Given the description of an element on the screen output the (x, y) to click on. 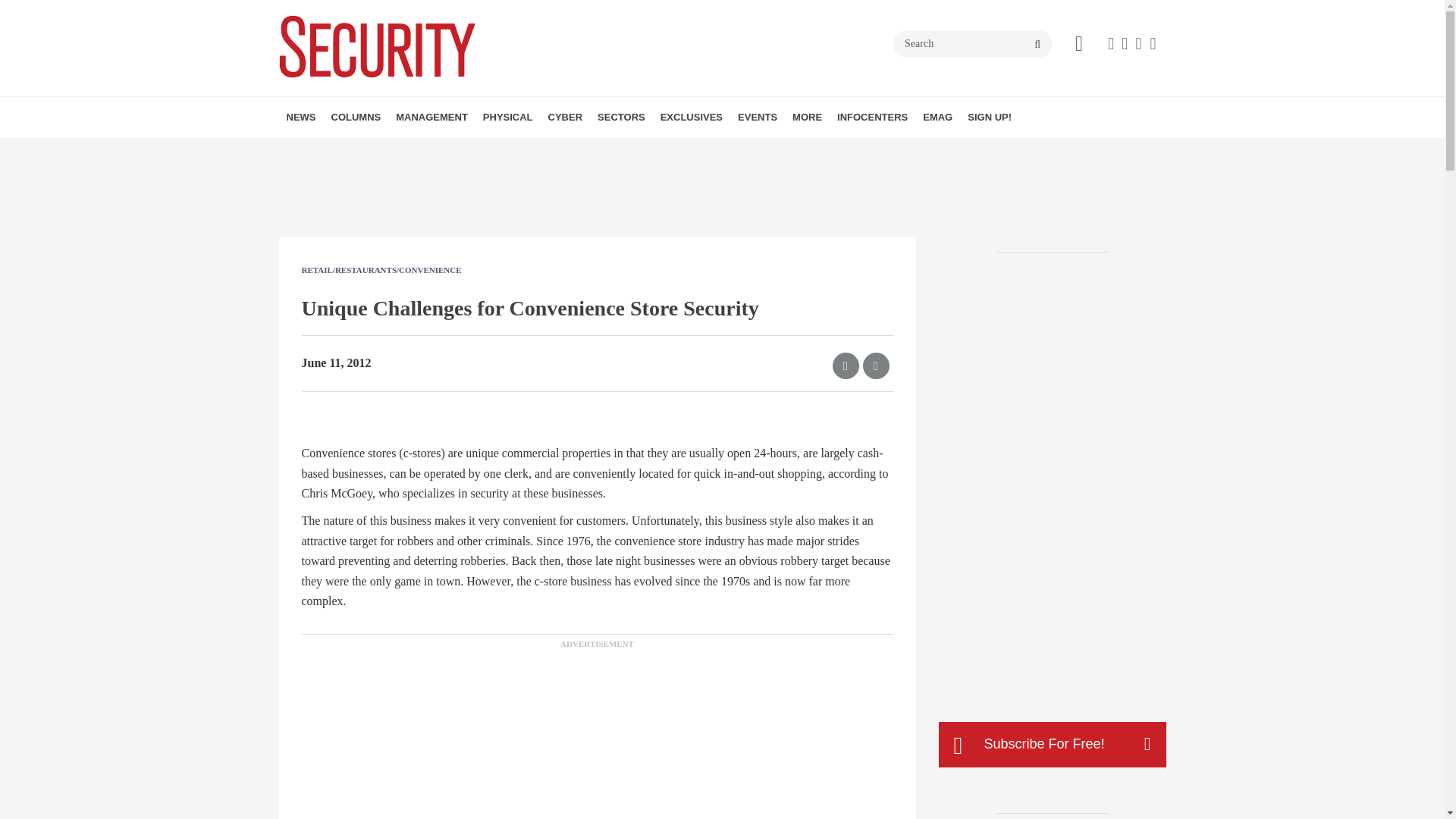
SECURITY BLOG (386, 150)
search (1037, 44)
CYBER (565, 117)
MANAGEMENT (432, 117)
MORE (589, 150)
SECURITY TALK (430, 150)
ENTERPRISE SERVICES (490, 150)
CYBER TACTICS (417, 150)
SECTORS (620, 117)
IDENTITY MANAGEMENT (583, 150)
CYBERSECURITY NEWS (635, 150)
MORE (641, 150)
VIDEO SURVEILLANCE (576, 150)
NEWS (301, 117)
COLUMNS (355, 117)
